Given the description of an element on the screen output the (x, y) to click on. 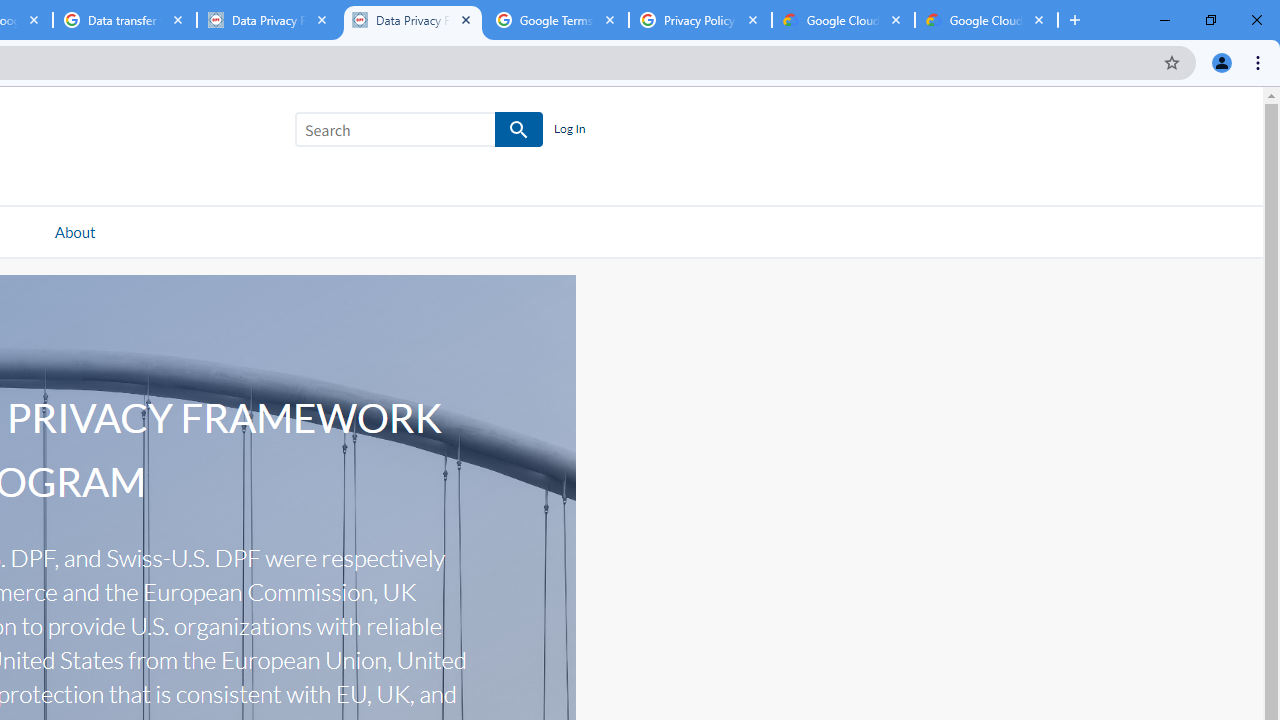
Log In (569, 129)
Google Cloud Privacy Notice (843, 20)
Search SEARCH (419, 133)
SEARCH (519, 130)
Data Privacy Framework (268, 20)
Data Privacy Framework (412, 20)
AutomationID: navitem2 (74, 231)
